Given the description of an element on the screen output the (x, y) to click on. 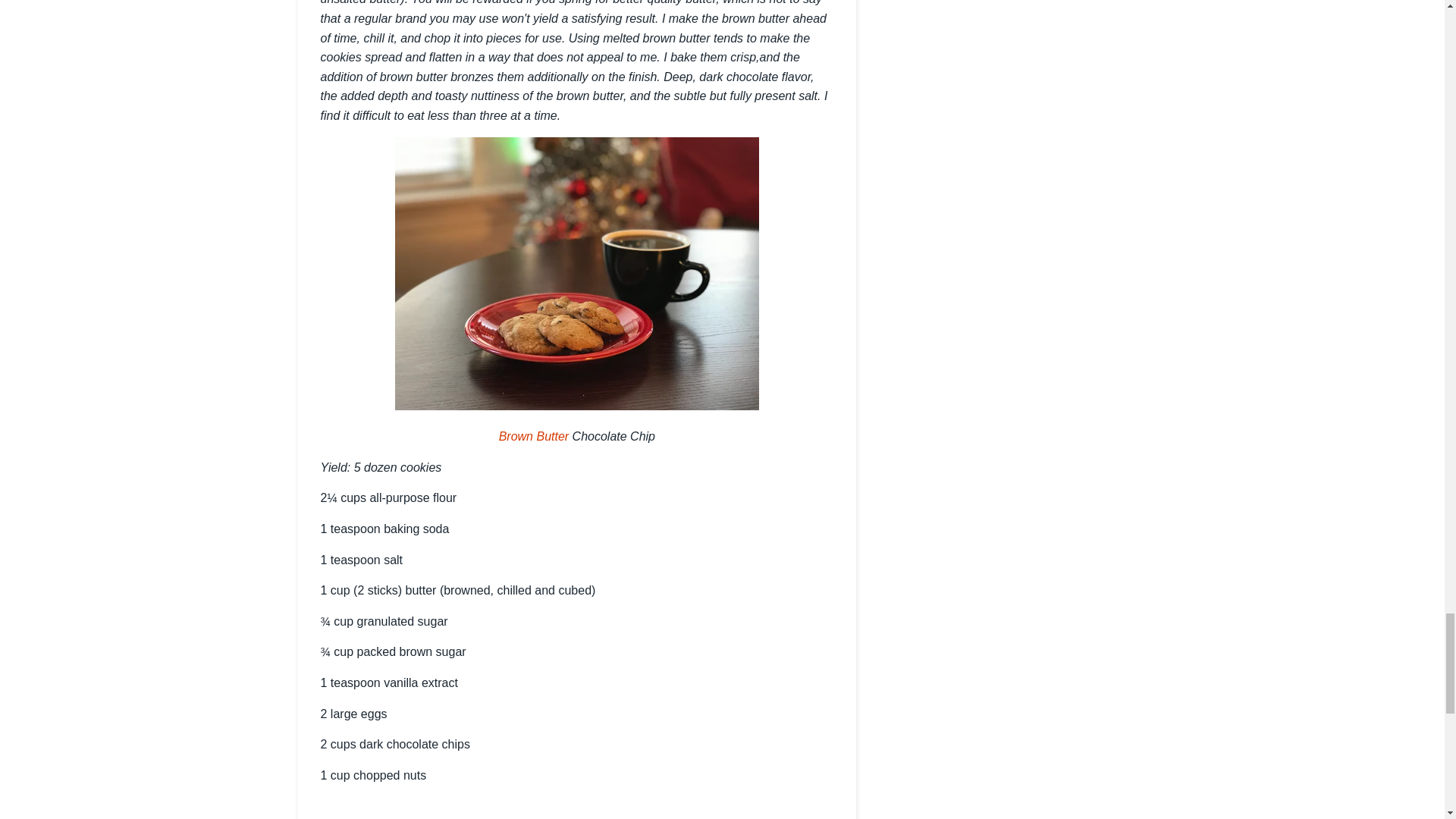
Brown Butter (534, 436)
